Given the description of an element on the screen output the (x, y) to click on. 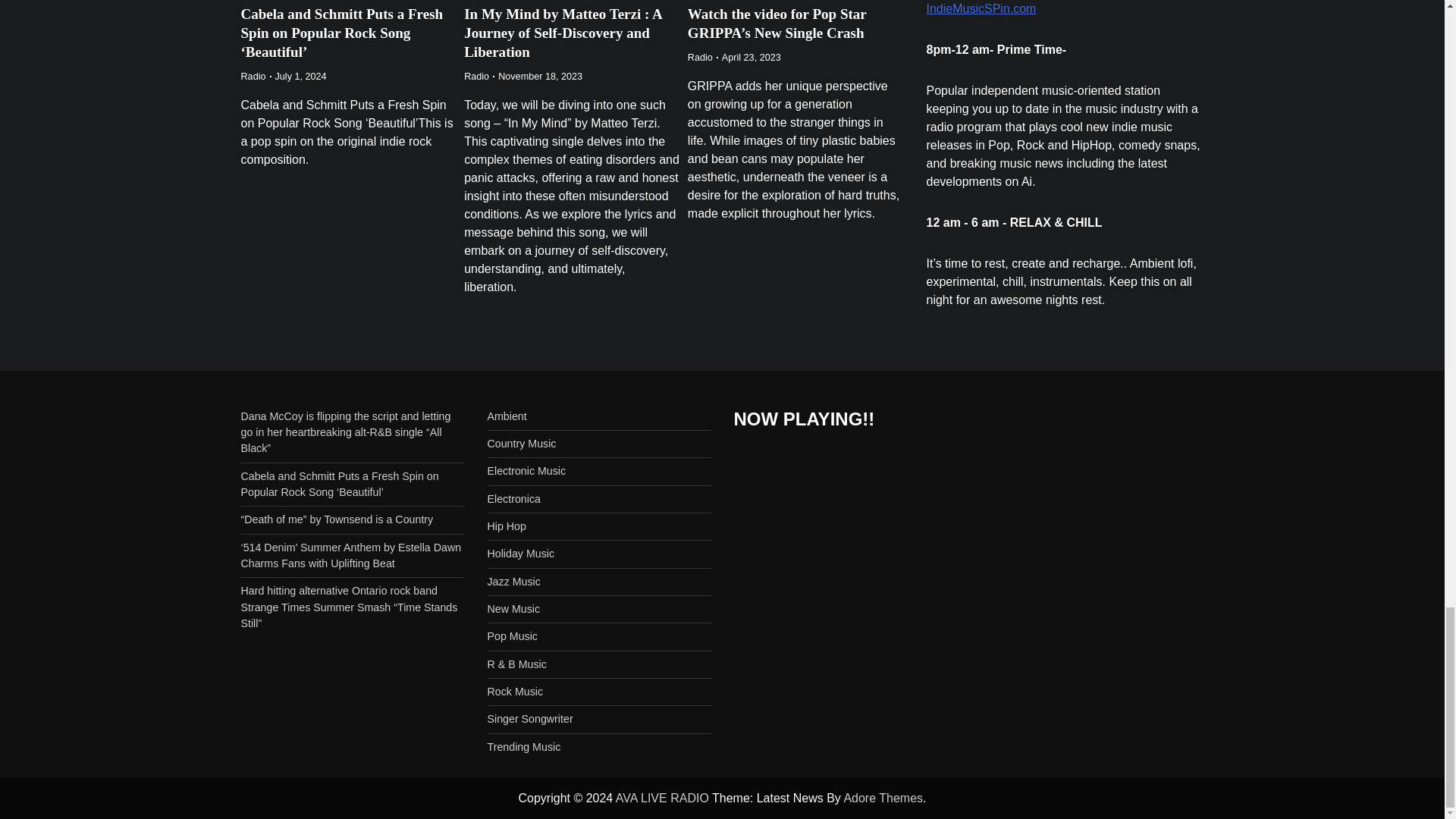
Radio (253, 76)
